Given the description of an element on the screen output the (x, y) to click on. 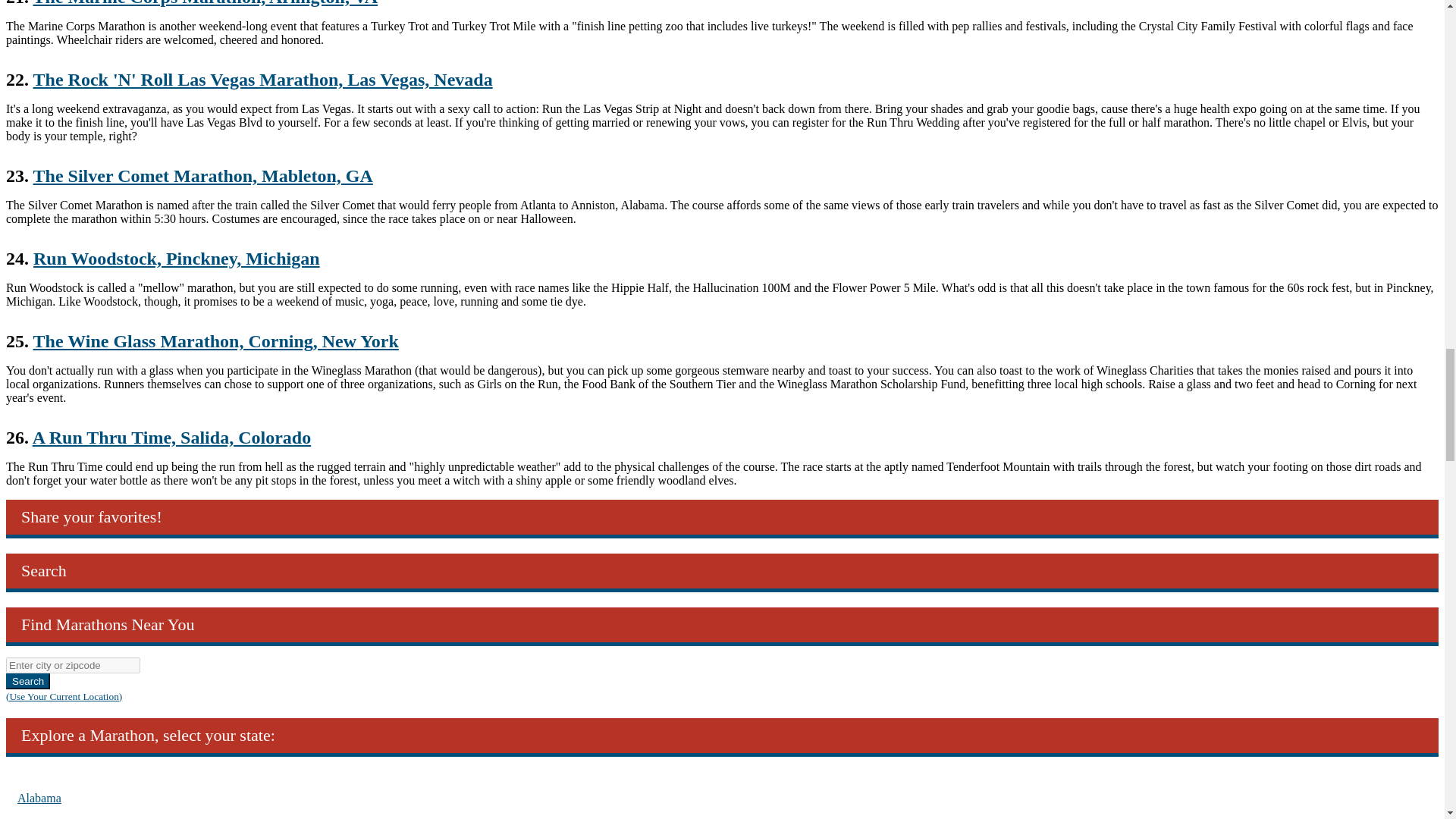
The Silver Comet Marathon, Mableton, GA (202, 175)
The Rock 'N' Roll Las Vegas Marathon, Las Vegas, Nevada (263, 79)
Alaska (33, 818)
The Marine Corps Marathon, Arlington, VA (205, 3)
Search (27, 681)
A Run Thru Time, Salida, Colorado (171, 437)
The Wine Glass Marathon, Corning, New York (215, 341)
Alabama (39, 797)
Run Woodstock, Pinckney, Michigan (176, 258)
